Given the description of an element on the screen output the (x, y) to click on. 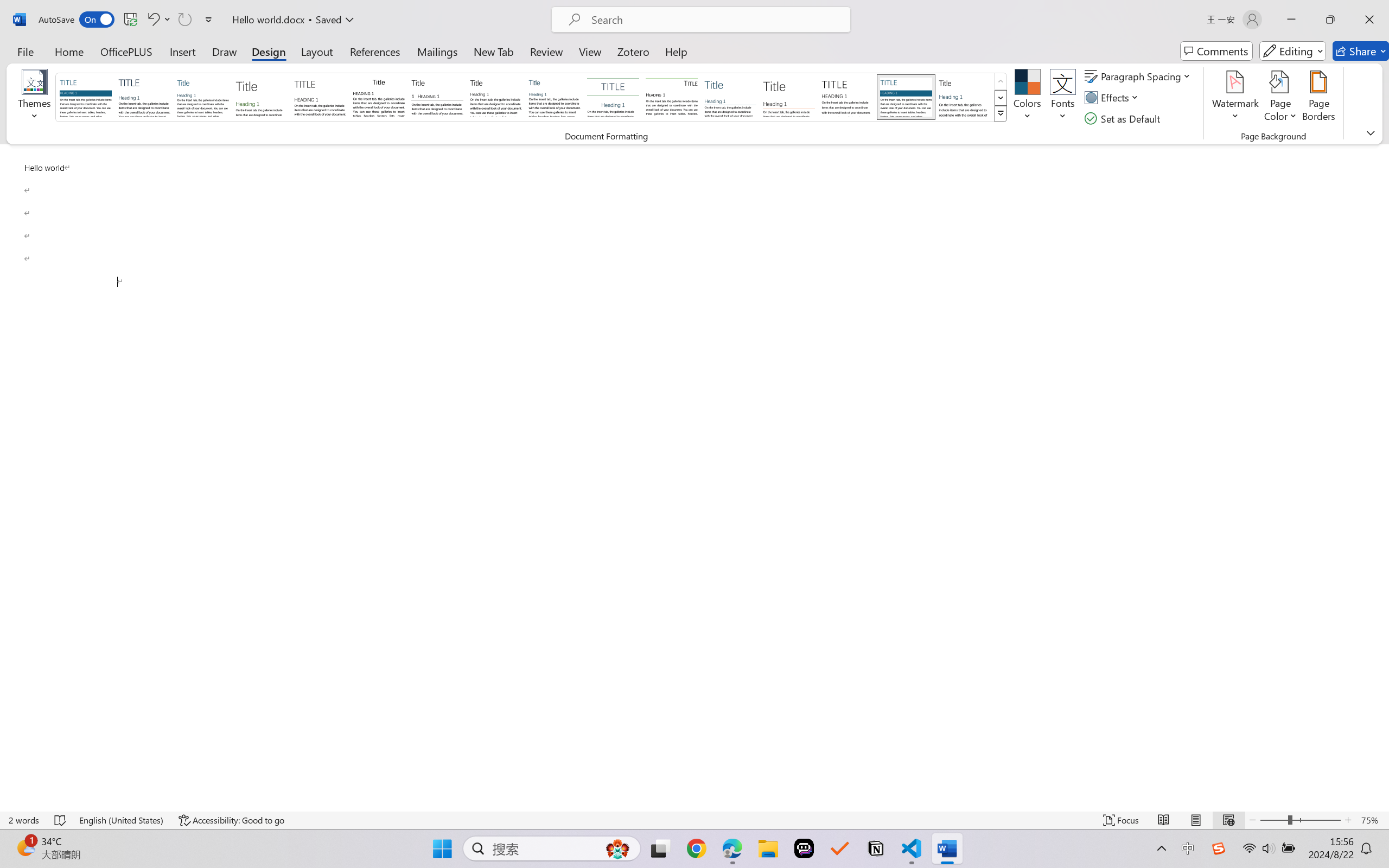
Insert (182, 51)
Spelling and Grammar Check No Errors (60, 819)
File Tab (24, 51)
Web Layout (1228, 819)
Help (675, 51)
Class: NetUIScrollBar (1382, 477)
Layout (316, 51)
Focus  (1121, 819)
View (589, 51)
Basic (Elegant) (144, 96)
Quick Access Toolbar (127, 19)
Themes (34, 97)
Basic (Simple) (202, 96)
Read Mode (1163, 819)
